Given the description of an element on the screen output the (x, y) to click on. 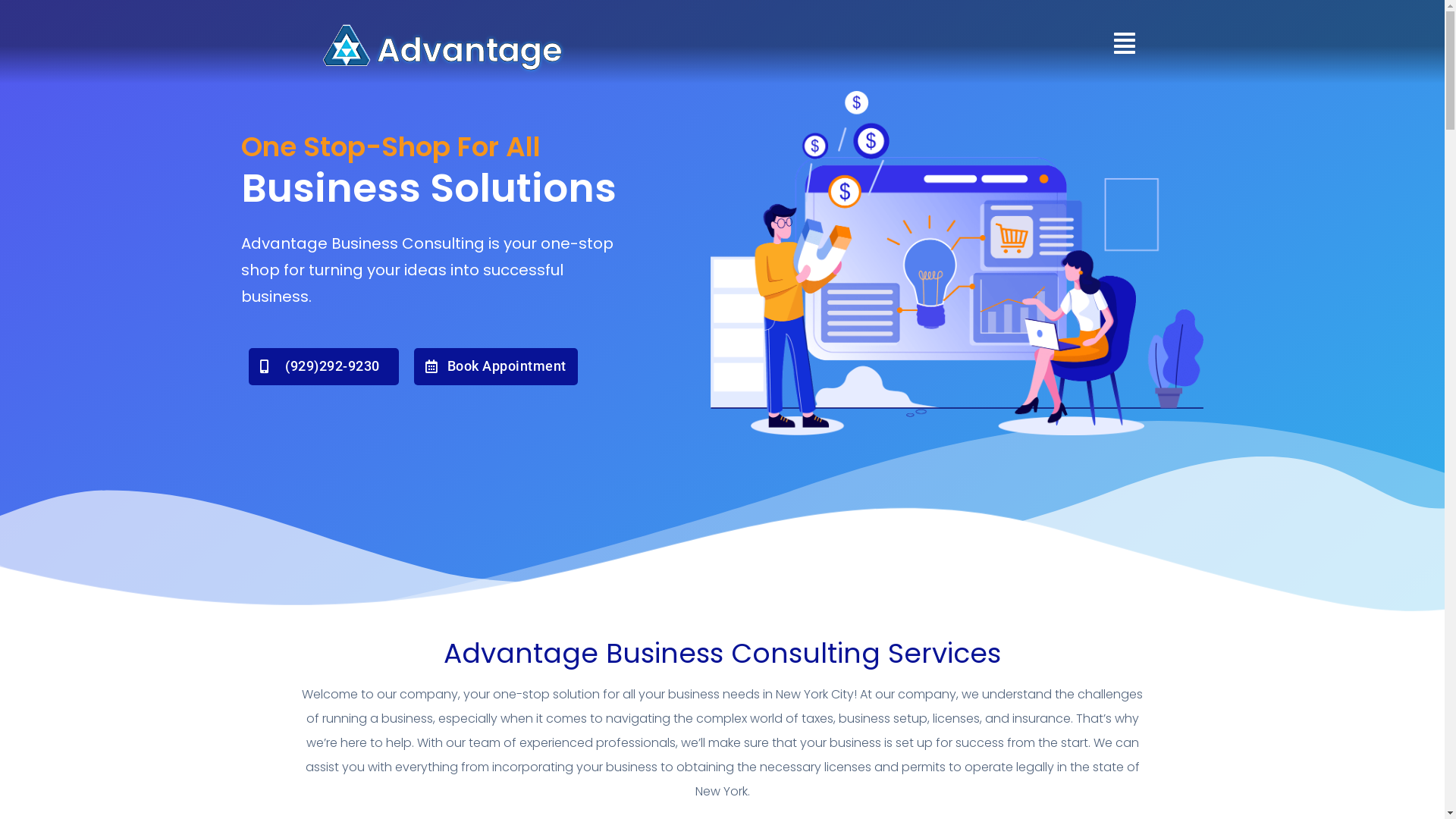
(929)292-9230 Element type: text (323, 366)
Book Appointment Element type: text (495, 366)
Advantage Element type: text (468, 49)
